Given the description of an element on the screen output the (x, y) to click on. 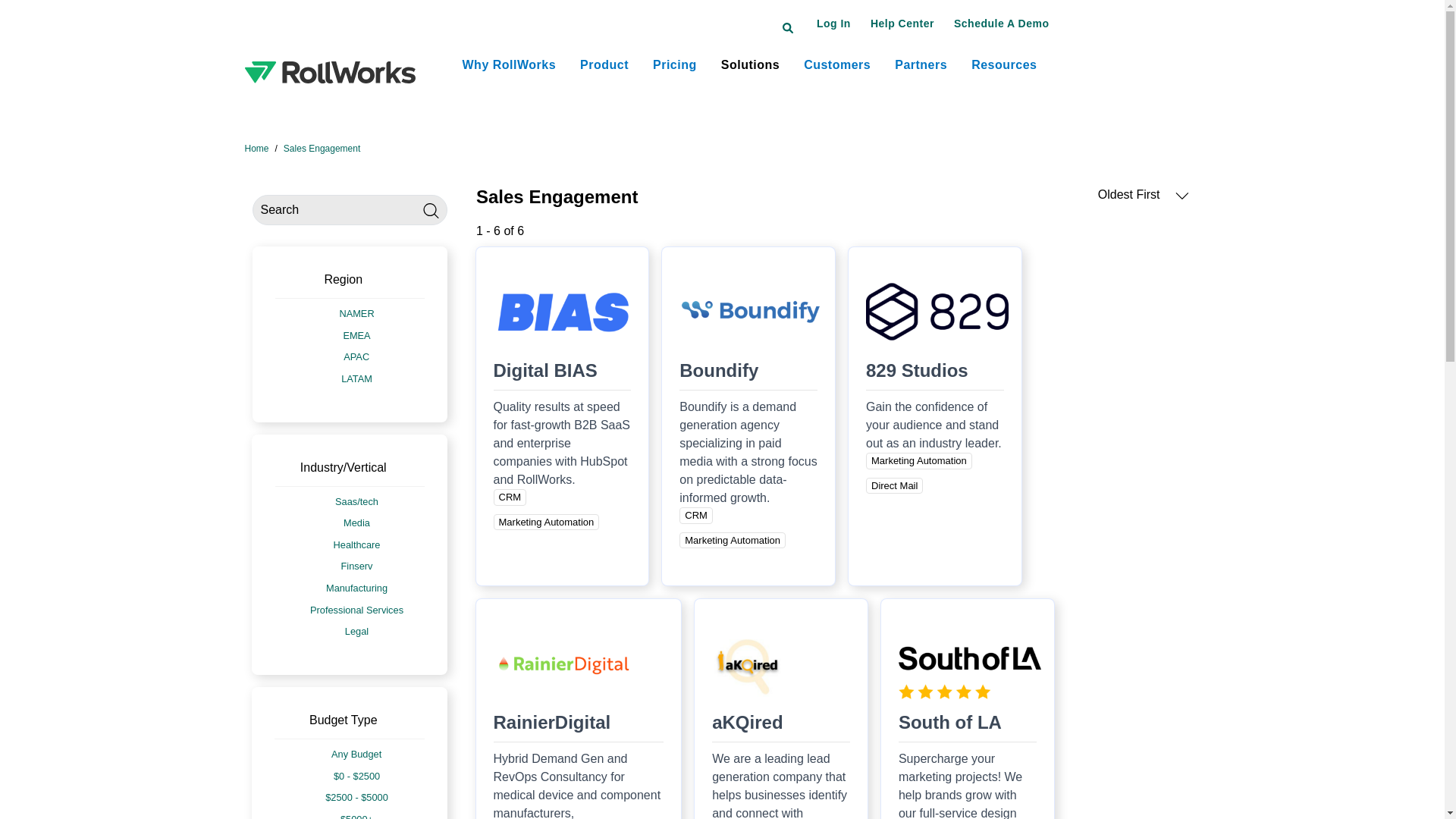
Resources (1003, 64)
Why RollWorks (509, 64)
Pricing (674, 64)
button (902, 23)
Solutions (750, 64)
Schedule A Demo (1001, 23)
Product (603, 64)
Help Center (902, 23)
Customers (837, 64)
Log In (833, 23)
